Given the description of an element on the screen output the (x, y) to click on. 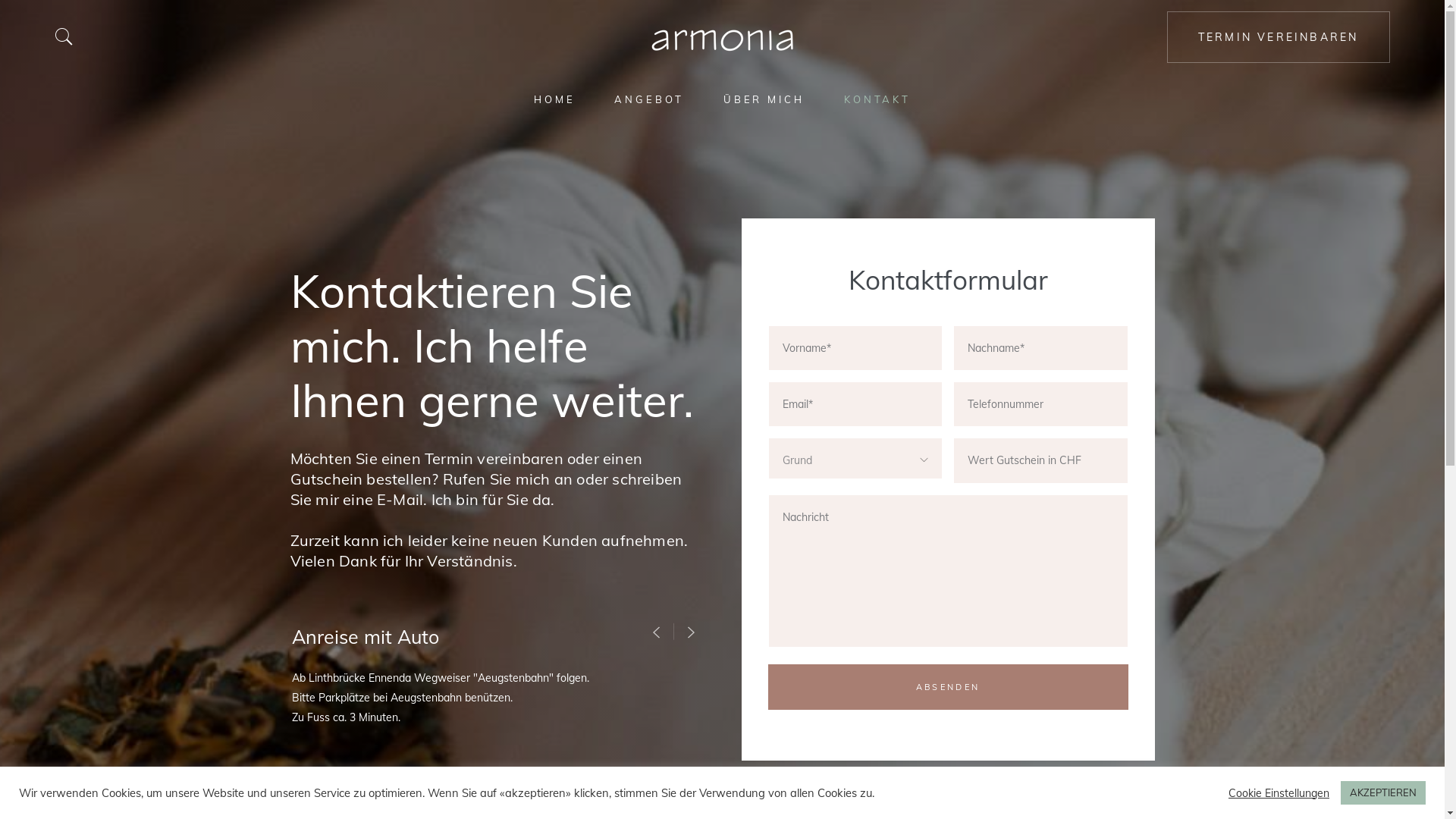
TERMIN VEREINBAREN Element type: text (1278, 36)
KONTAKT Element type: text (877, 99)
Cookie Einstellungen Element type: text (1278, 792)
ABSENDEN Element type: text (947, 687)
ANGEBOT Element type: text (648, 99)
HOME Element type: text (554, 99)
AKZEPTIEREN Element type: text (1382, 792)
